Given the description of an element on the screen output the (x, y) to click on. 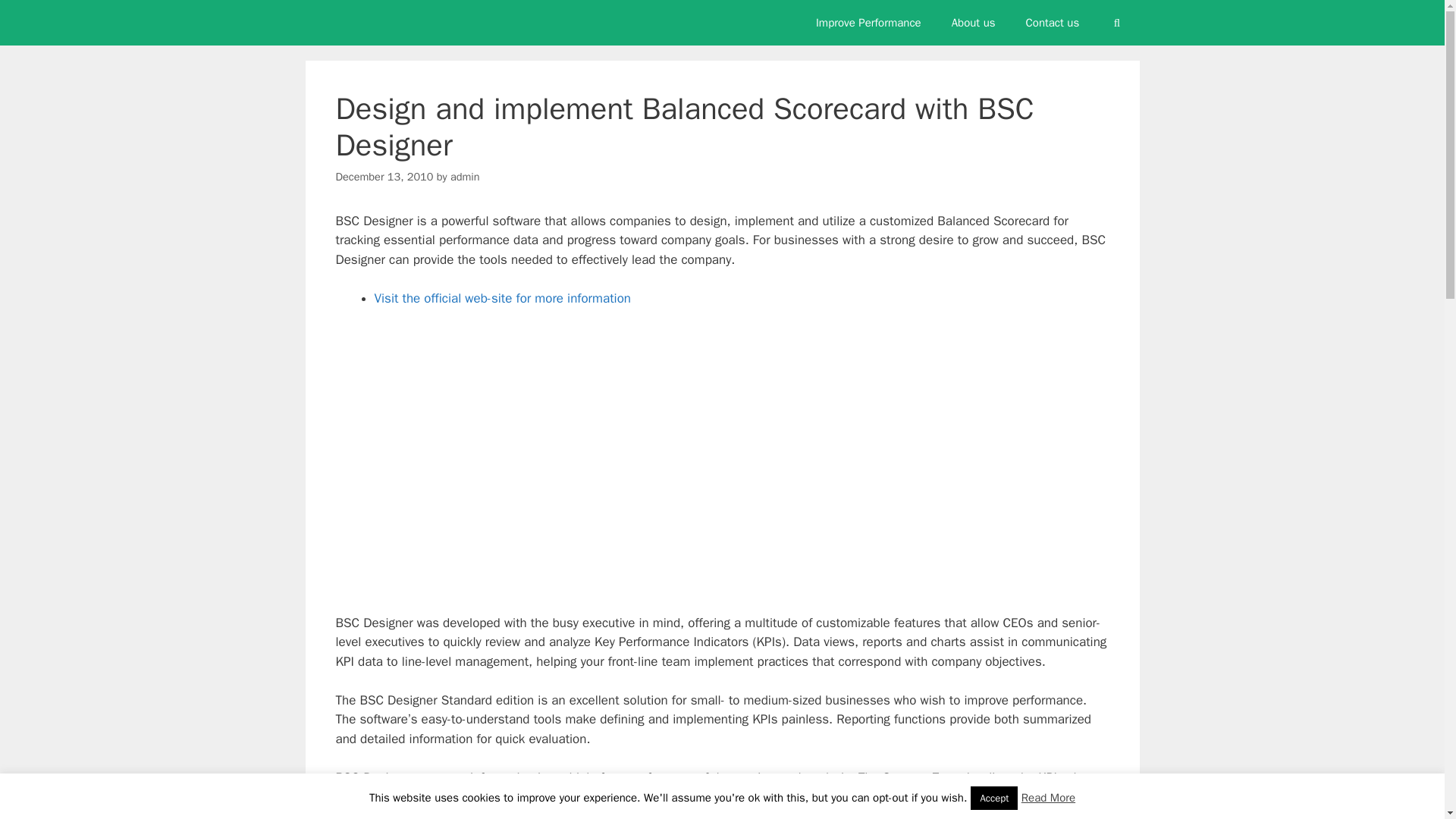
View all posts by admin (464, 176)
admin (464, 176)
Read More (1048, 797)
About us (973, 22)
Improve Performance (868, 22)
Visit the official web-site for more information (502, 298)
Accept (994, 797)
Contact us (1052, 22)
